Given the description of an element on the screen output the (x, y) to click on. 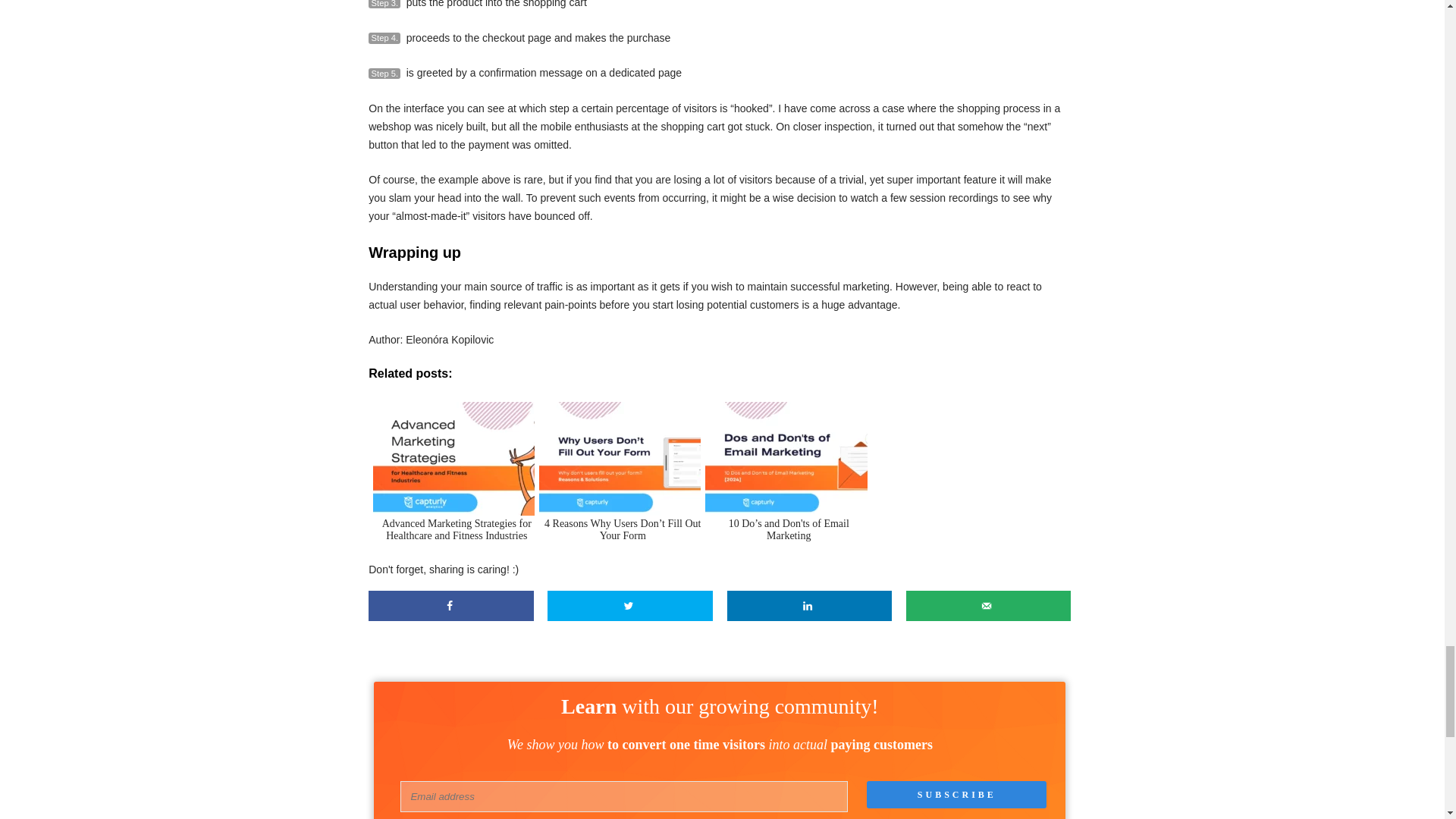
Share on Facebook (451, 605)
Share on Twitter (630, 605)
Share on LinkedIn (809, 605)
Subscribe (956, 794)
Send over email (988, 605)
